Given the description of an element on the screen output the (x, y) to click on. 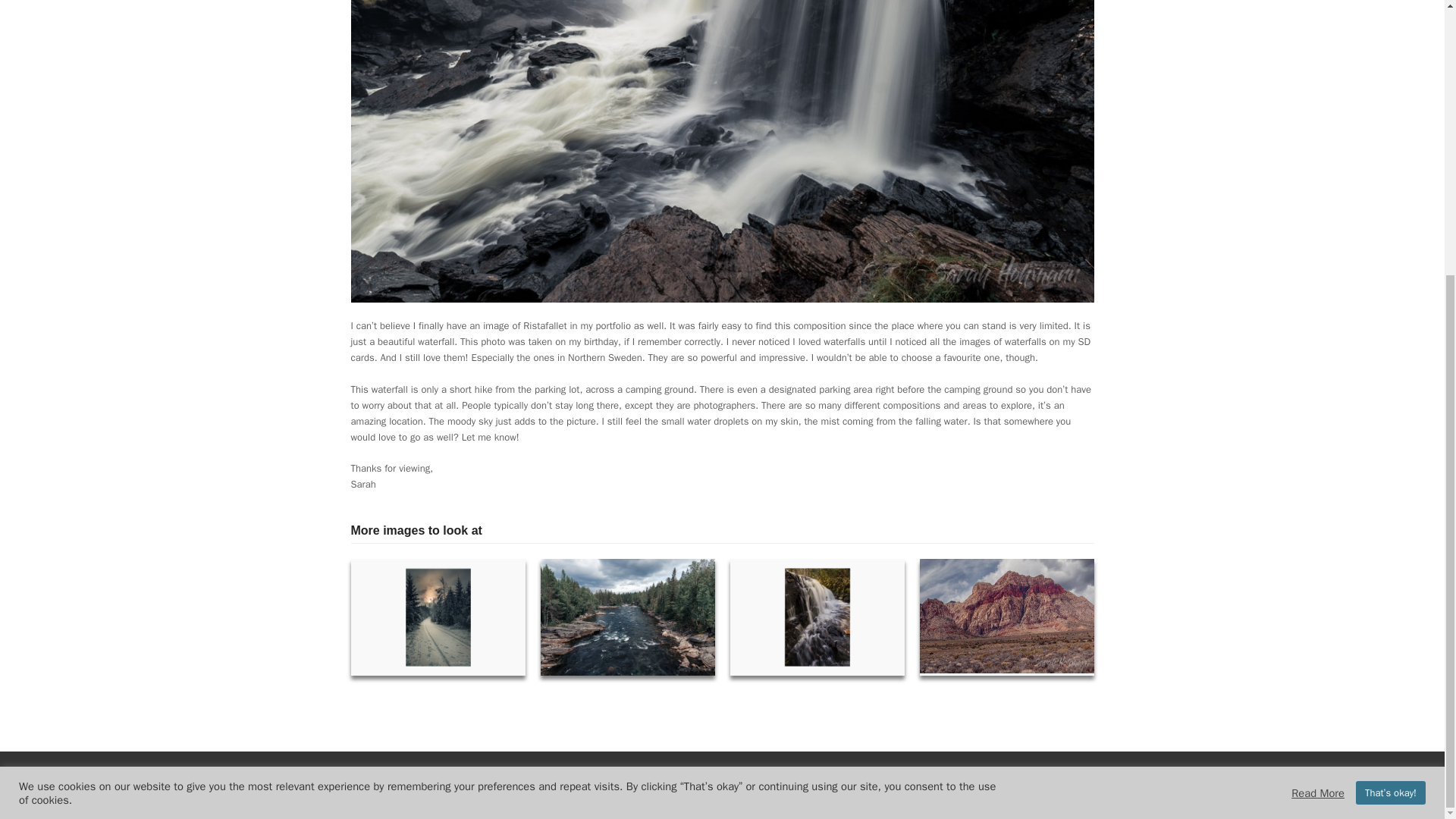
Read More (1317, 386)
Legal Notice (563, 795)
Terms and Conditions (753, 795)
Winter Wonderland (437, 615)
Data Protection Policy (649, 795)
Newsletter (836, 795)
Sarah Hohmann (713, 773)
Where the trolls live (816, 615)
Wind Chill (627, 615)
Contact (890, 795)
